Given the description of an element on the screen output the (x, y) to click on. 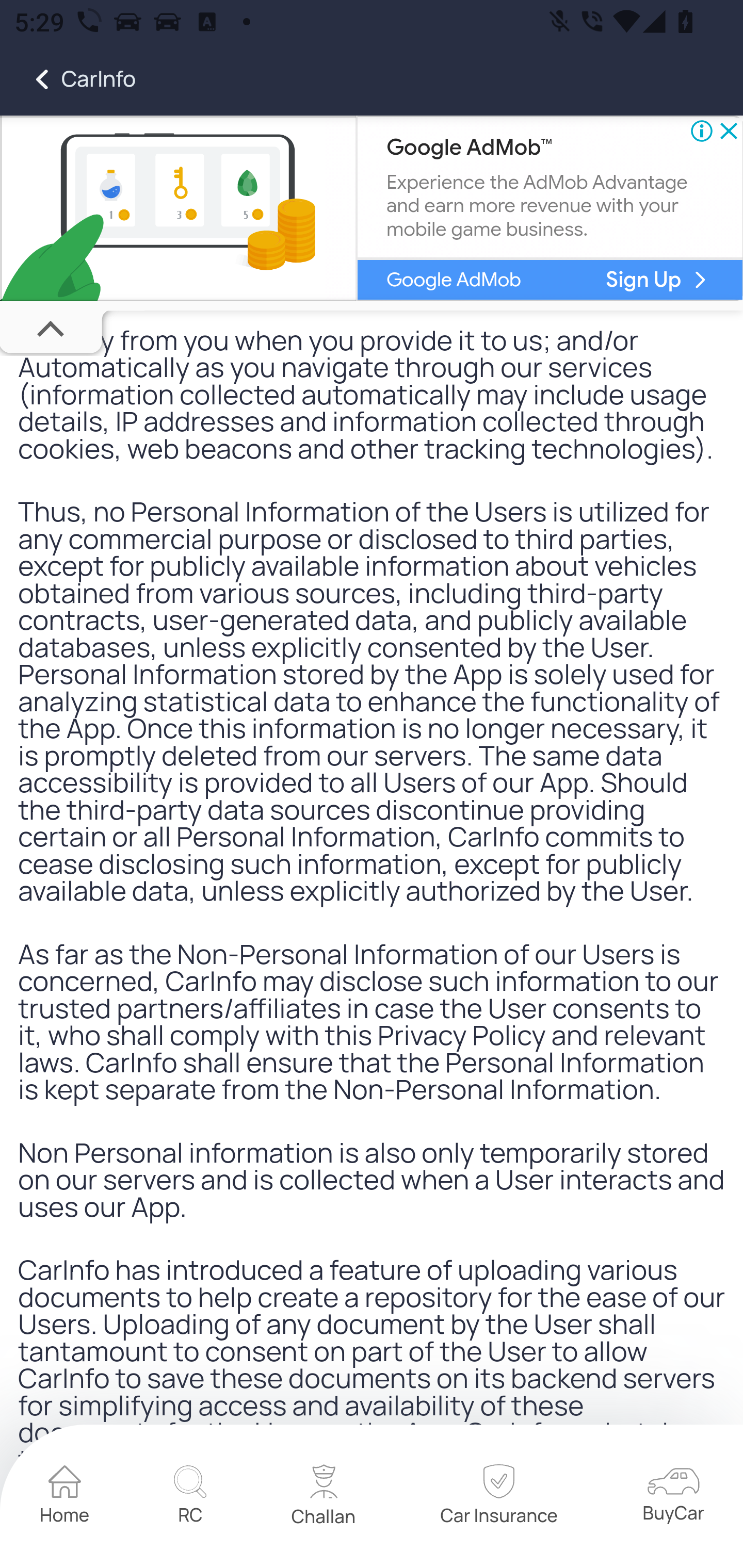
CarInfo (67, 79)
Google AdMob™ (468, 149)
Google AdMob (452, 280)
Sign Up (643, 281)
home Challan home Challan (323, 1497)
home Home home Home (64, 1498)
home RC home RC (190, 1498)
home Car Insurance home Car Insurance (497, 1498)
home BuyCar home BuyCar (672, 1497)
